Given the description of an element on the screen output the (x, y) to click on. 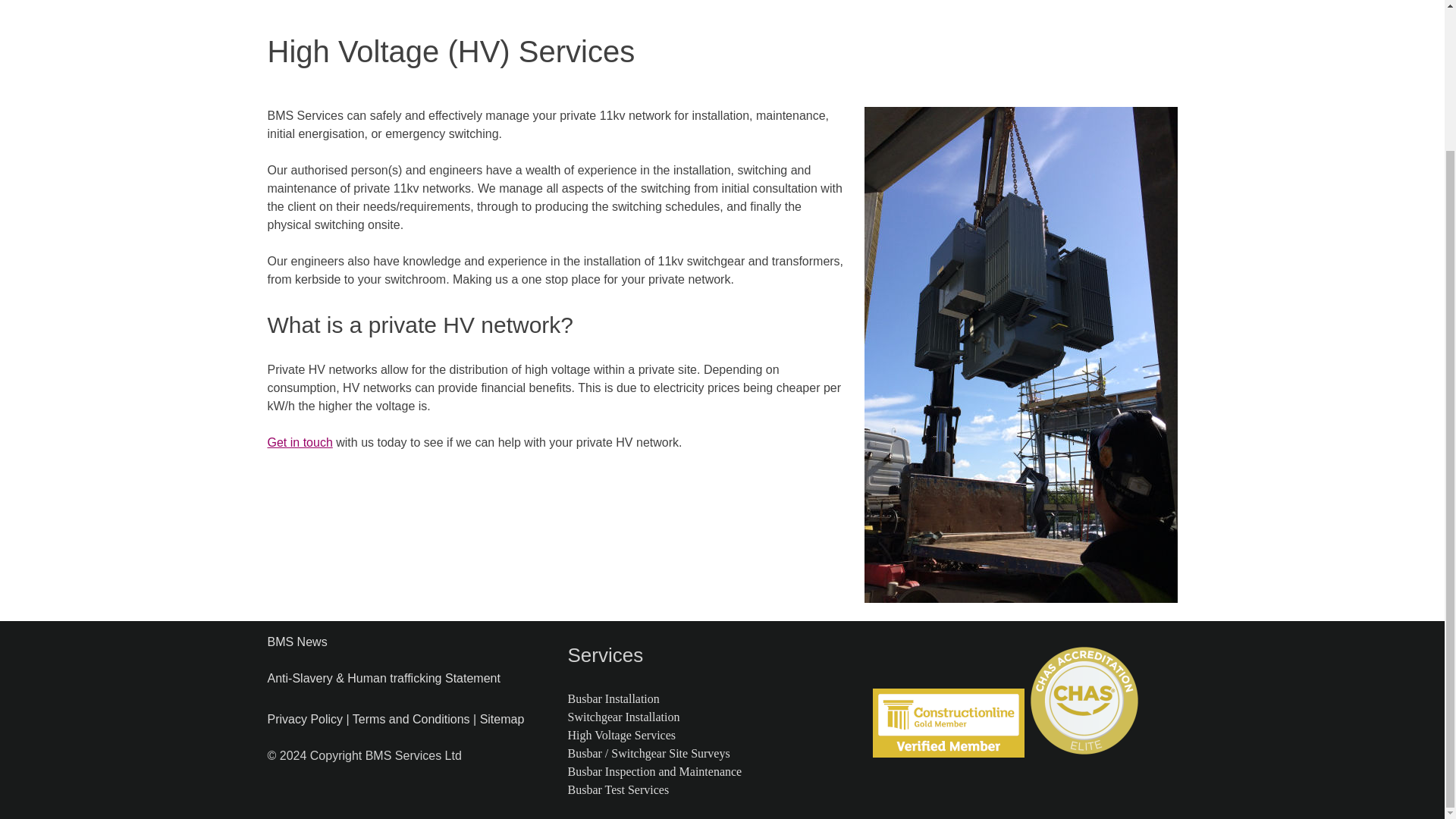
Contact Us (320, 4)
Switchgear Installation (623, 716)
Busbar Installation (613, 698)
Privacy Policy (304, 718)
High Voltage Services (621, 735)
Terms and Conditions (411, 718)
Busbar Test Services (617, 789)
Sitemap (502, 718)
BMS News (296, 641)
Busbar Inspection and Maintenance (654, 771)
Get in touch (298, 441)
